Given the description of an element on the screen output the (x, y) to click on. 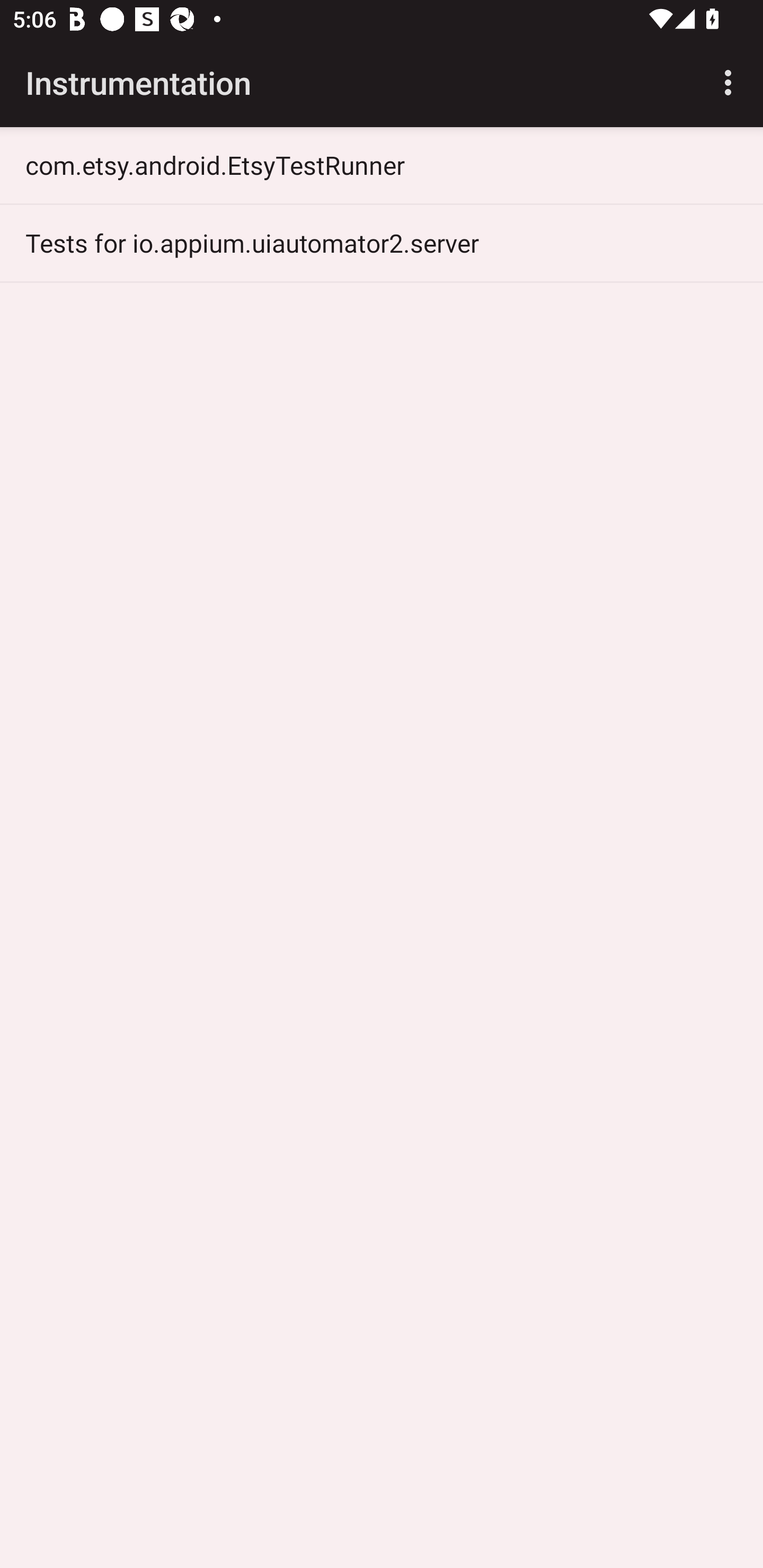
More options (731, 81)
com.etsy.android.EtsyTestRunner (381, 165)
Tests for io.appium.uiautomator2.server (381, 242)
